Given the description of an element on the screen output the (x, y) to click on. 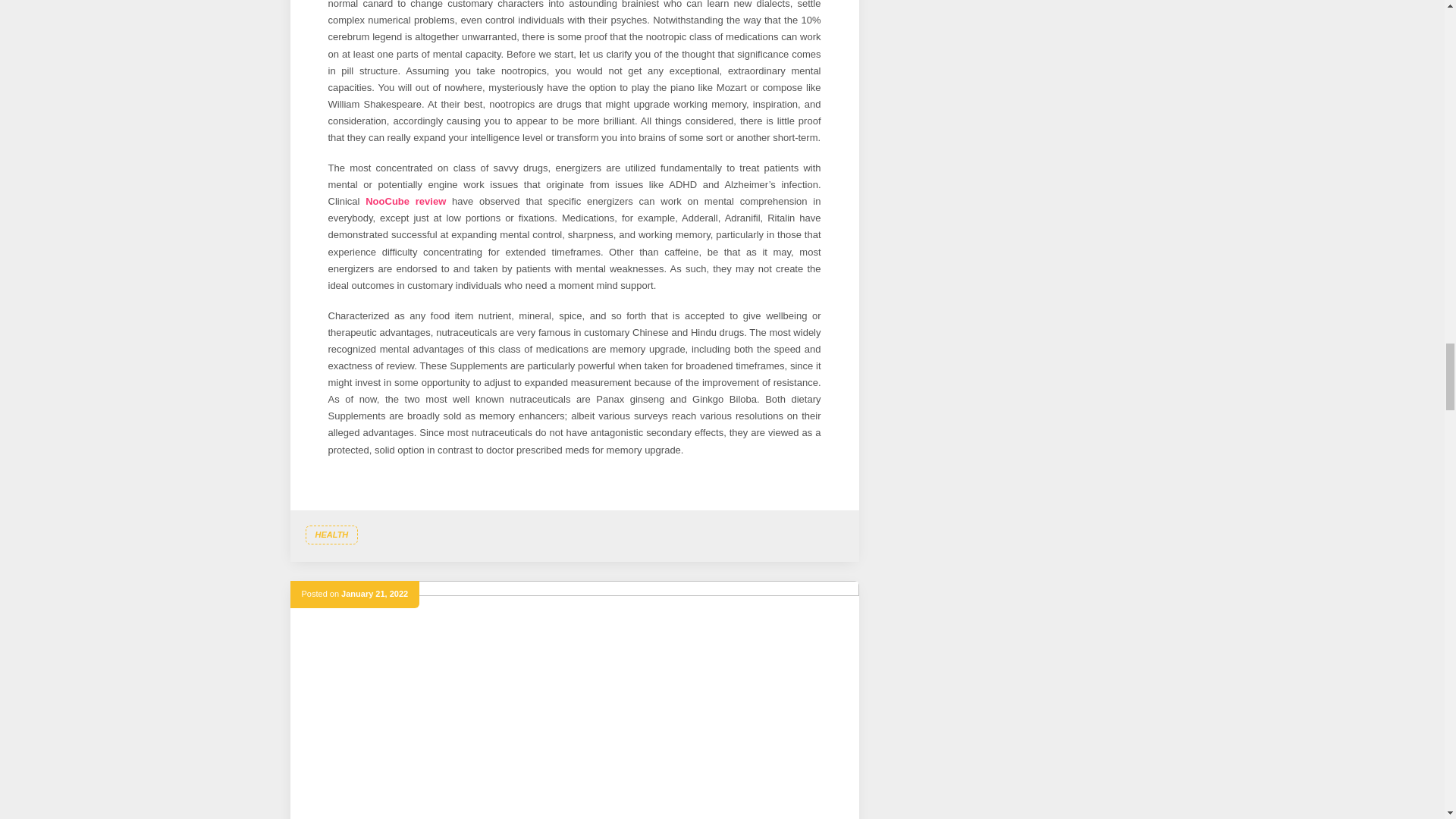
January 21, 2022 (373, 593)
HEALTH (331, 535)
NooCube review (405, 201)
